Given the description of an element on the screen output the (x, y) to click on. 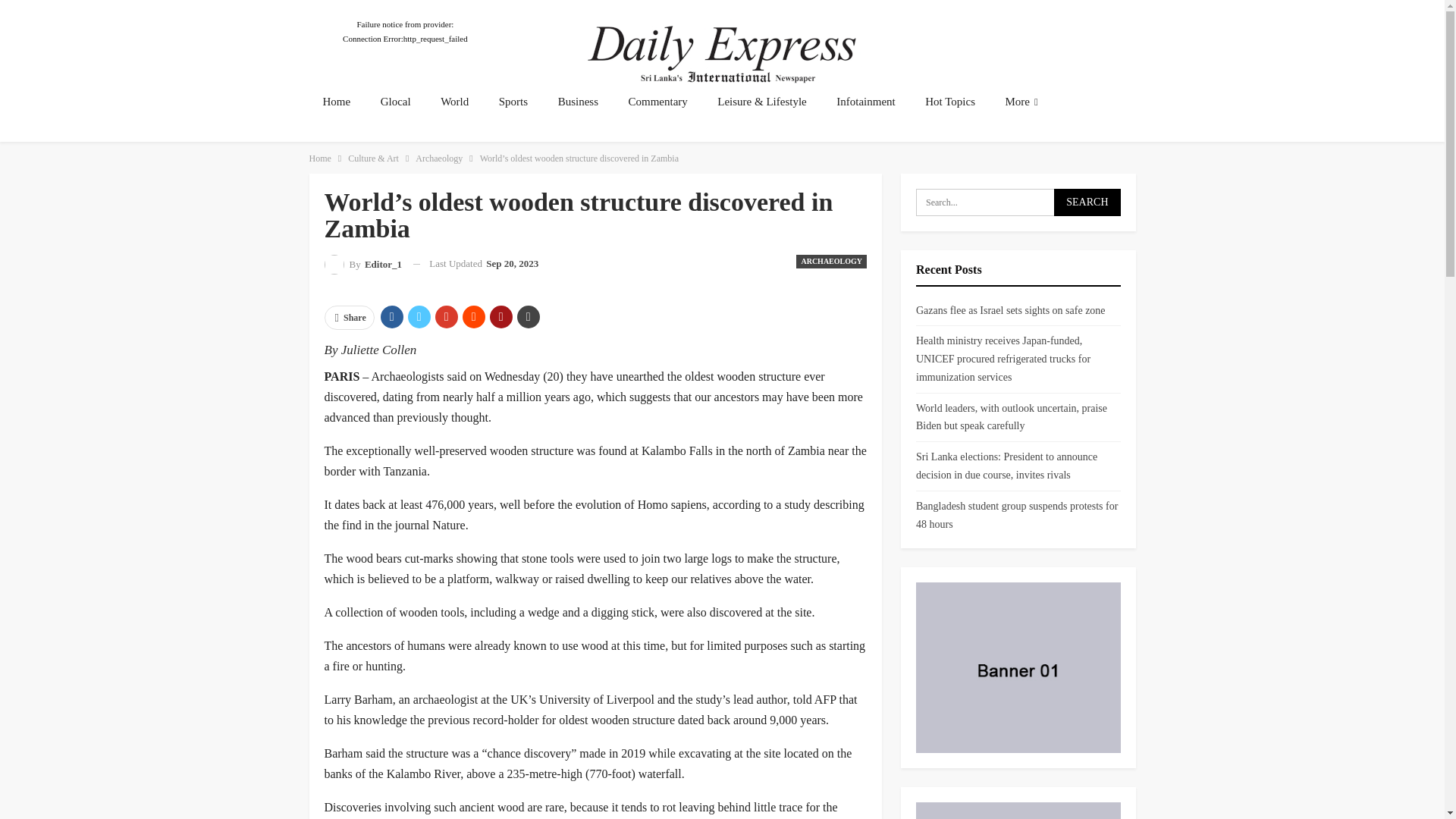
Hot Topics (949, 101)
Archaeology (438, 158)
Search (1086, 201)
Search (1086, 201)
Home (336, 101)
Glocal (395, 101)
Commentary (657, 101)
Infotainment (865, 101)
ARCHAEOLOGY (831, 261)
World (453, 101)
Sports (512, 101)
Home (319, 158)
Browse Author Articles (363, 263)
Search for: (1018, 201)
More (1021, 101)
